Given the description of an element on the screen output the (x, y) to click on. 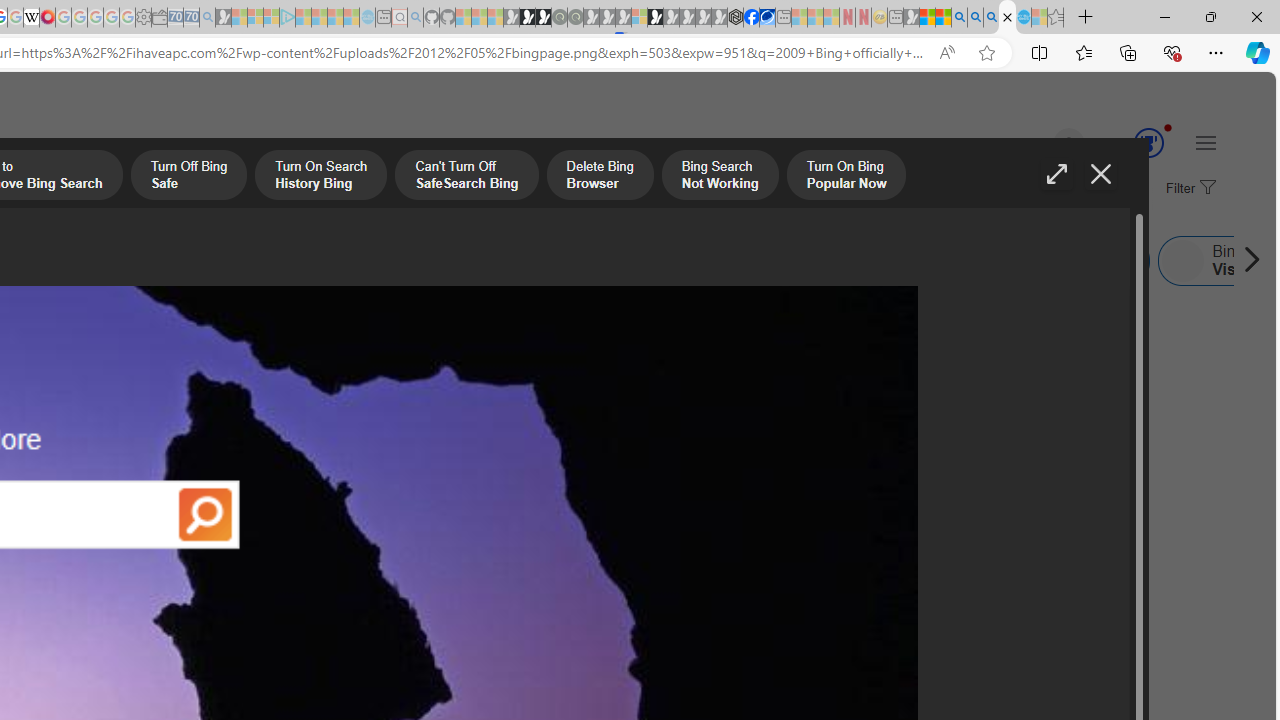
Turn Off Bing Safe (188, 177)
Turn On Bing Popular Now (845, 177)
Https Bing Search Q MSN (889, 260)
Play Zoo Boom in your browser | Games from Microsoft Start (527, 17)
Favorites - Sleeping (1055, 17)
MSN Homepage Bing Search Engine (69, 260)
Bing AI - Search (959, 17)
AutomationID: rh_meter (1148, 142)
